Given the description of an element on the screen output the (x, y) to click on. 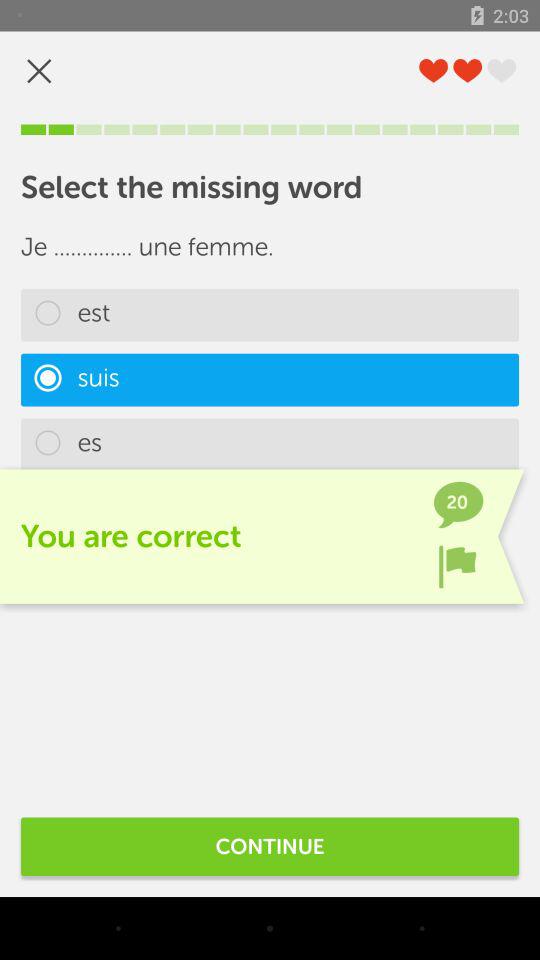
press the continue icon (270, 846)
